Given the description of an element on the screen output the (x, y) to click on. 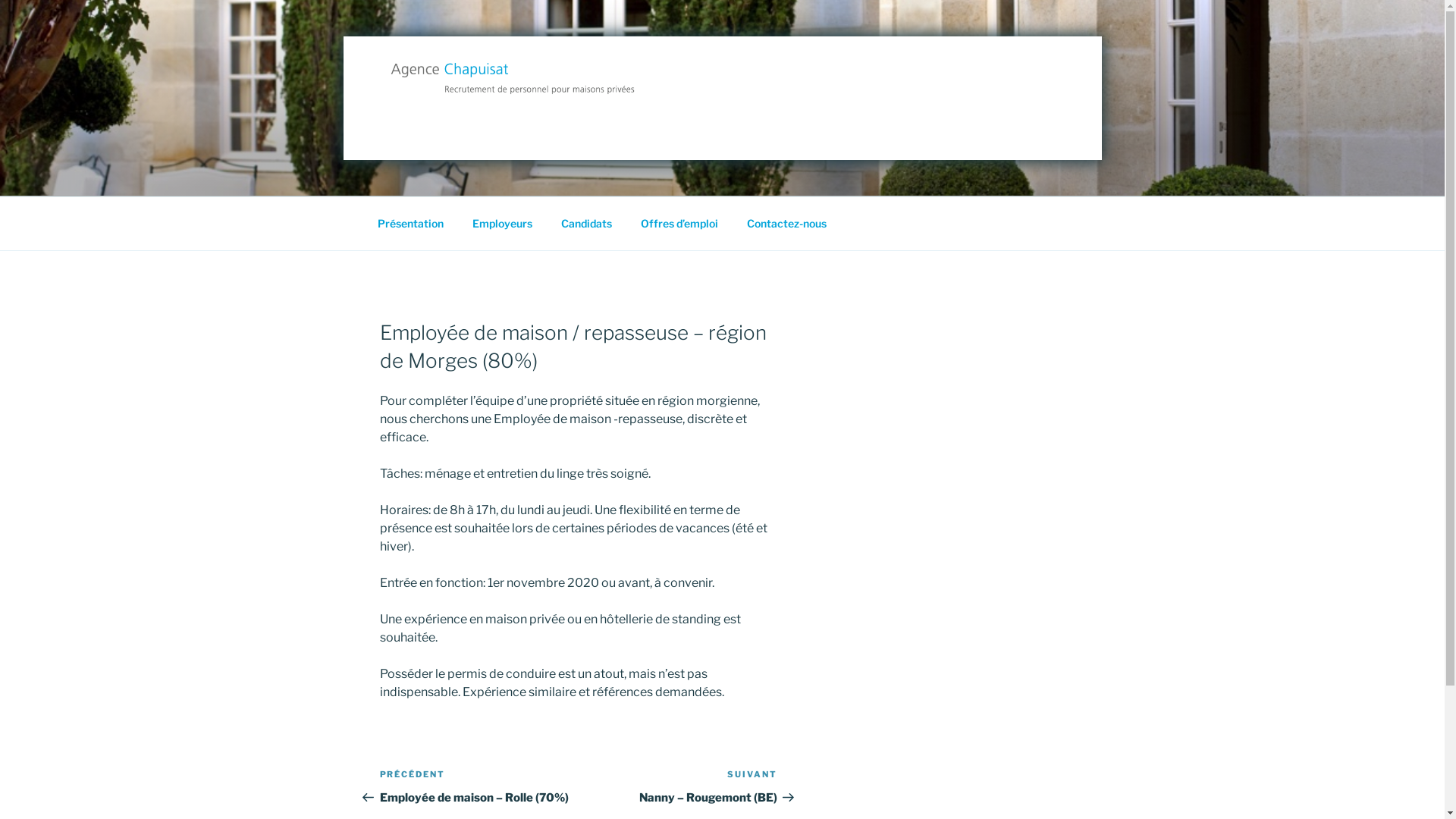
AGENCE CHAPUISAT Element type: text (535, 127)
Aller au contenu principal Element type: text (0, 0)
Candidats Element type: text (585, 222)
Employeurs Element type: text (502, 222)
Contactez-nous Element type: text (787, 222)
